Given the description of an element on the screen output the (x, y) to click on. 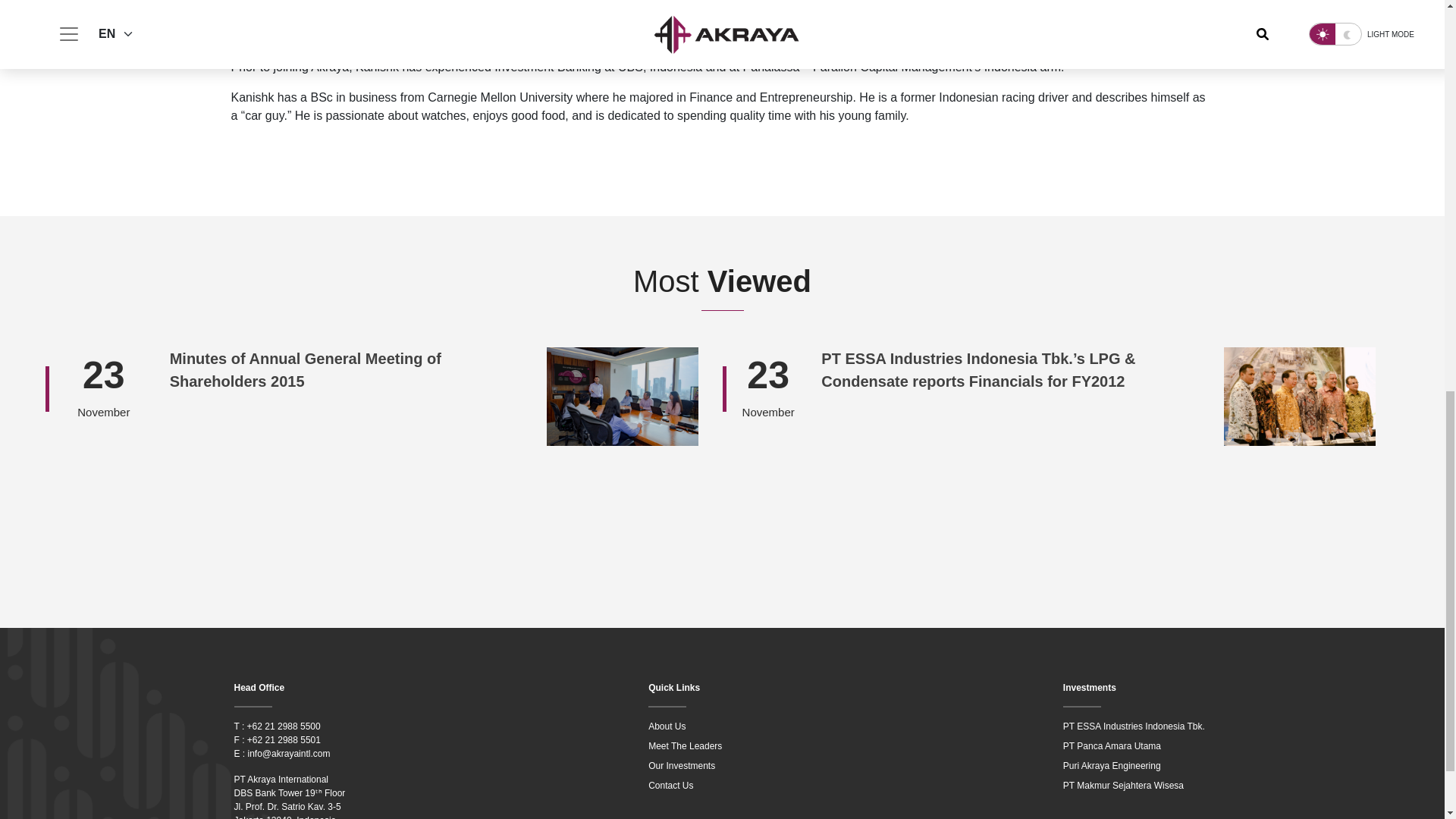
PT Makmur Sejahtera Wisesa (1136, 785)
PT Panca Amara Utama (1136, 745)
About Us (721, 726)
Our Investments (721, 766)
Meet The Leaders (721, 745)
Puri Akraya Engineering (1136, 766)
PT ESSA Industries Indonesia Tbk. (1136, 726)
Contact Us (721, 785)
